Given the description of an element on the screen output the (x, y) to click on. 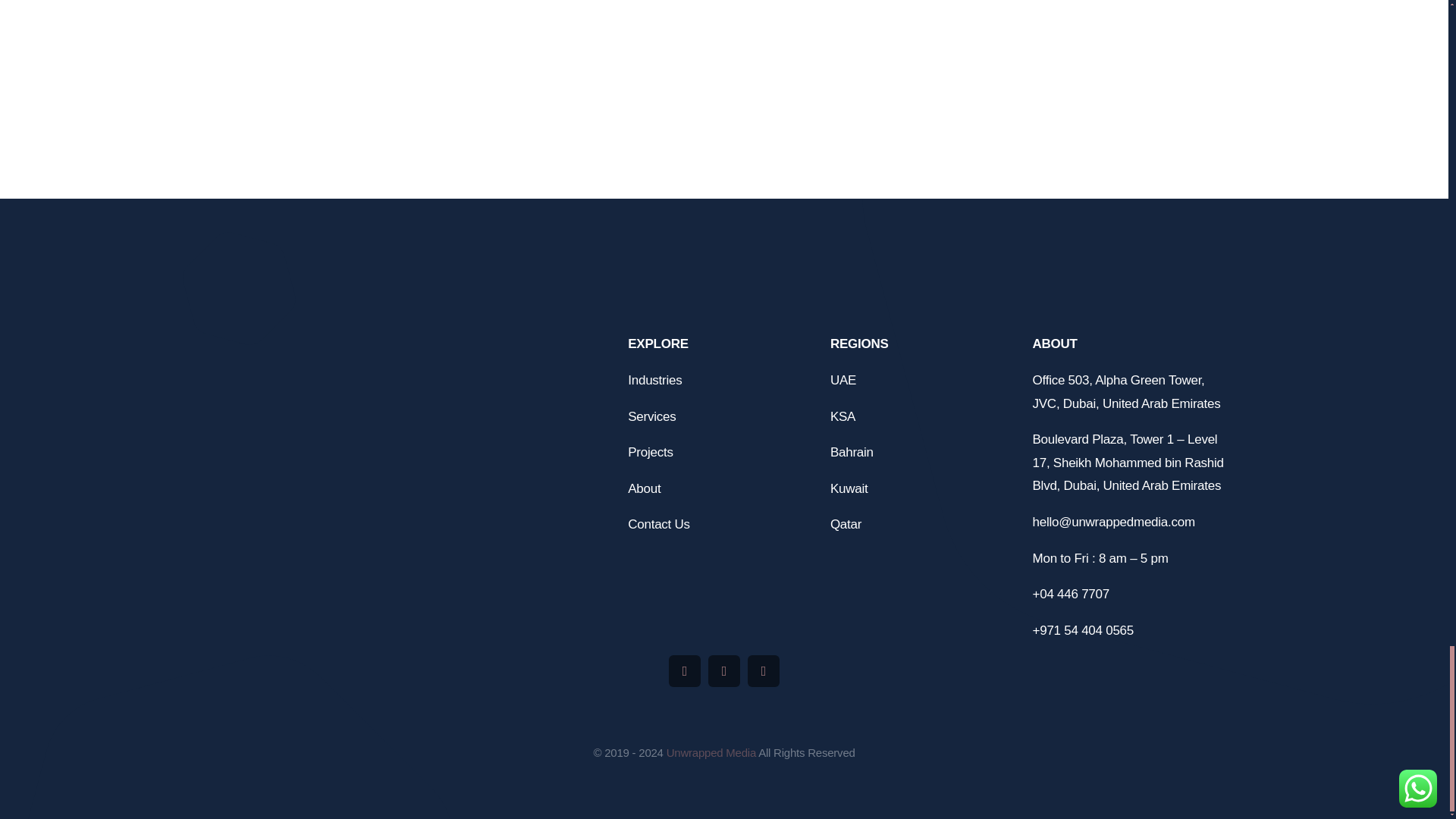
banner logo 2 (413, 372)
